Given the description of an element on the screen output the (x, y) to click on. 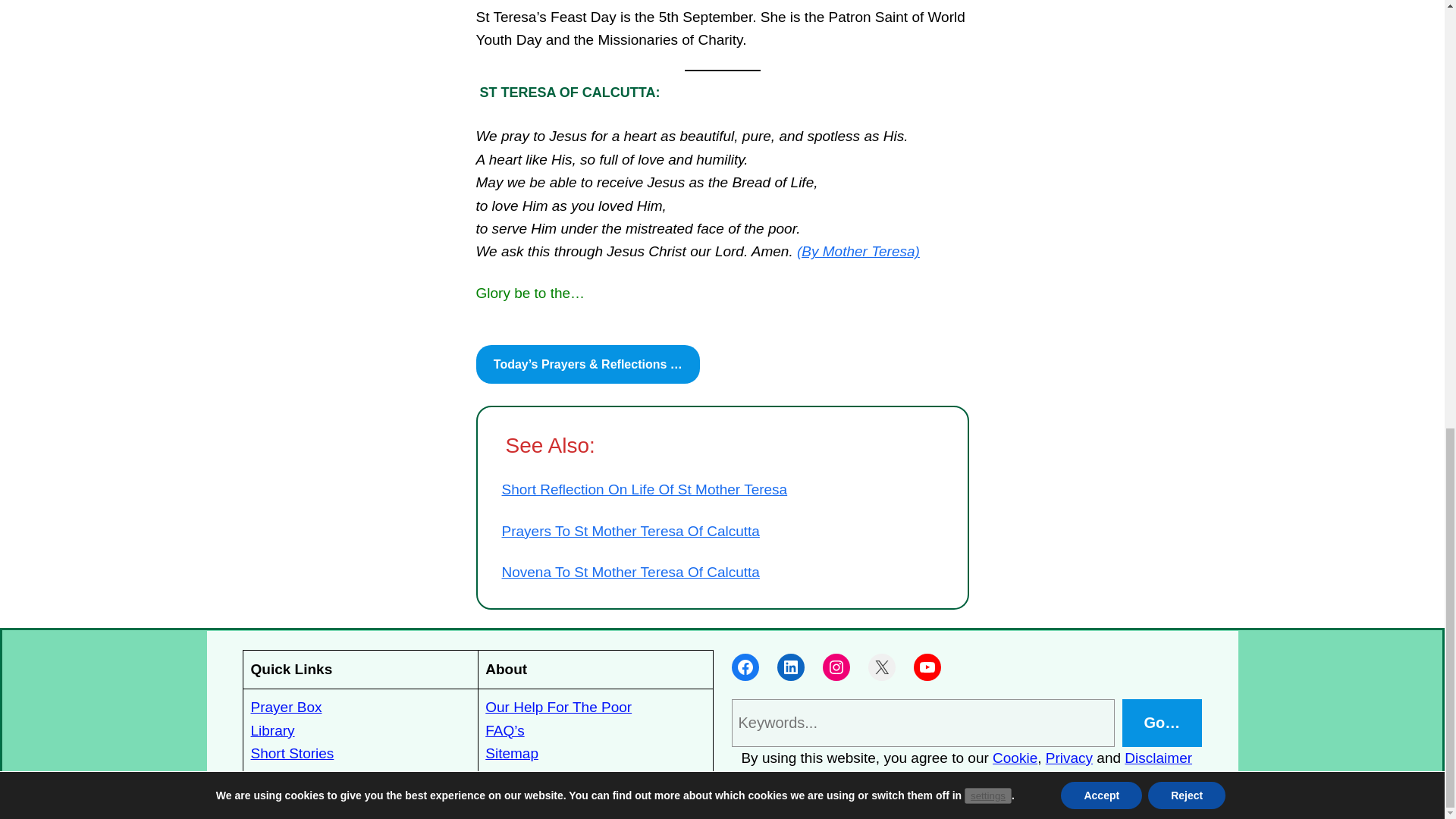
YouTube (926, 666)
Disclaimer (1158, 757)
LinkedIn (789, 666)
Short Reflection On Life Of St Mother Teresa (644, 489)
Contact Us (520, 775)
Bible 365 (280, 775)
Instagram (835, 666)
Cookie (1014, 757)
X (881, 666)
Prayer Box (285, 706)
